Given the description of an element on the screen output the (x, y) to click on. 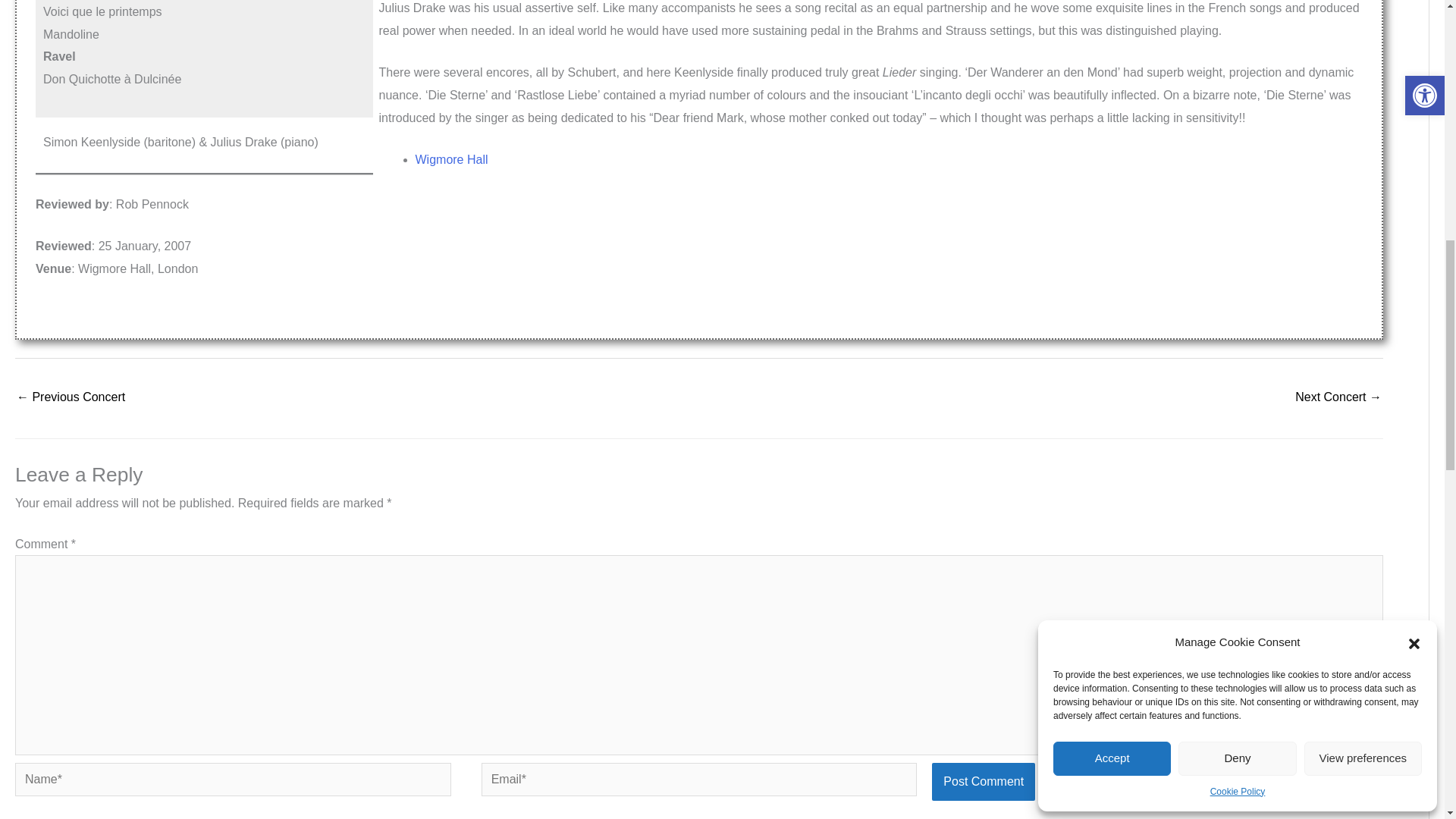
Post Comment (983, 781)
Orchestra Sinfonica di Roma (70, 398)
